Given the description of an element on the screen output the (x, y) to click on. 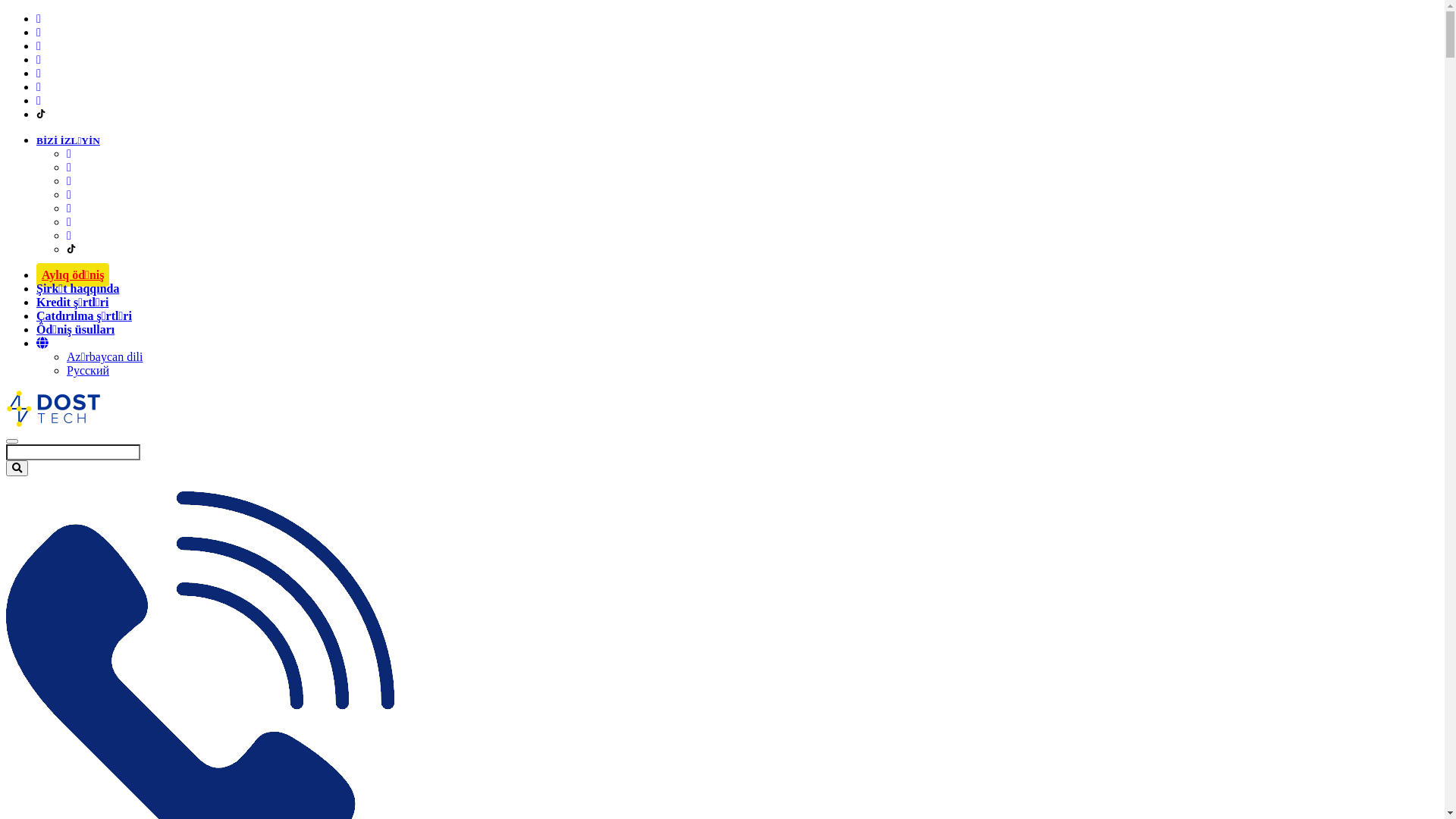
Telegram Element type: hover (68, 221)
Twitter Element type: hover (68, 235)
Twitter Element type: hover (38, 100)
Telegram Element type: hover (38, 86)
Linkedin Element type: hover (38, 45)
Instagram Element type: hover (38, 31)
Instagram Element type: hover (68, 166)
Youtube Element type: hover (38, 59)
Whatsapp Element type: hover (68, 207)
Facebook Element type: hover (38, 18)
Facebook Element type: hover (68, 153)
Youtube Element type: hover (68, 194)
Linkedin Element type: hover (68, 180)
Whatsapp Element type: hover (38, 72)
